Given the description of an element on the screen output the (x, y) to click on. 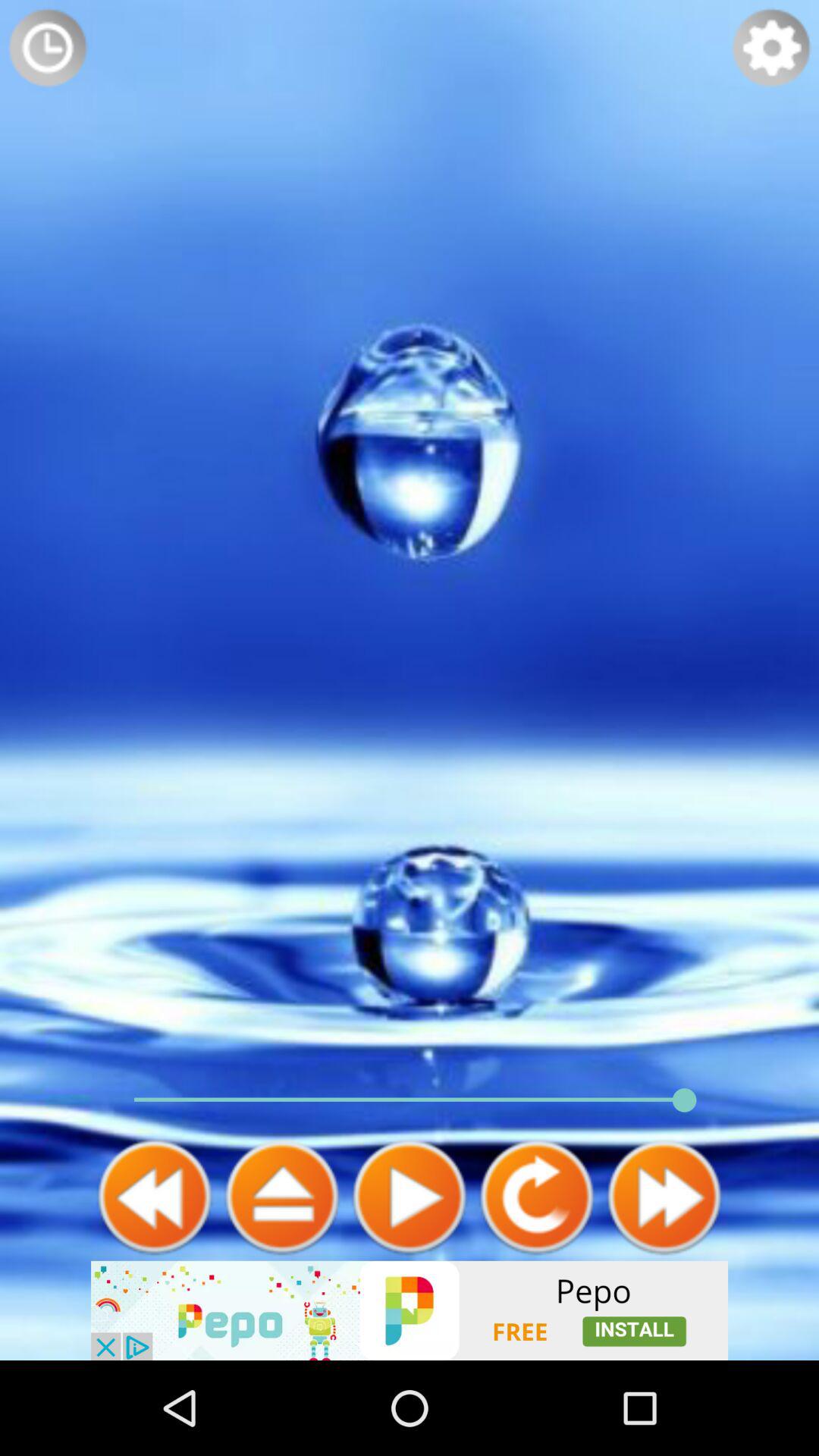
play botton (409, 1196)
